Given the description of an element on the screen output the (x, y) to click on. 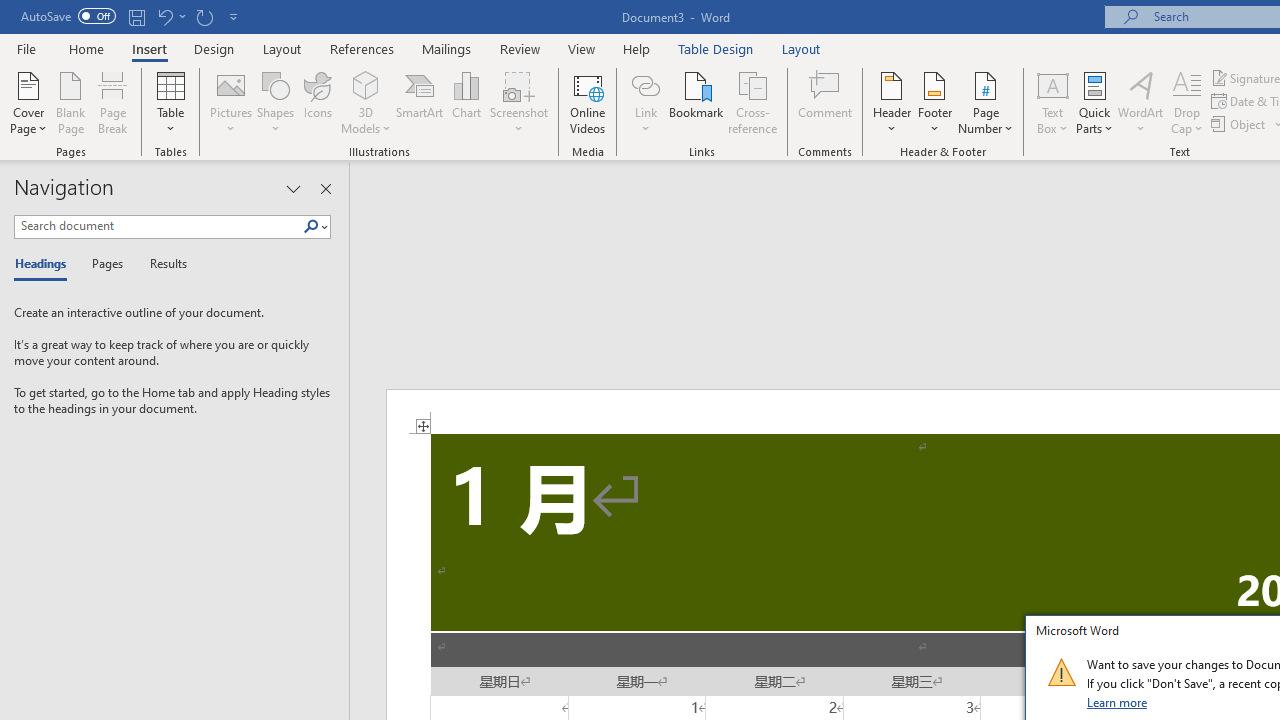
Headings (45, 264)
More Options (645, 121)
Save (136, 15)
File Tab (26, 48)
Class: NetUIImage (1061, 671)
Comment (825, 102)
Quick Parts (1094, 102)
Online Videos... (588, 102)
Close pane (325, 188)
Home (86, 48)
Results (161, 264)
Page Number (986, 102)
Search (311, 227)
Customize Quick Access Toolbar (234, 15)
Cross-reference... (752, 102)
